Given the description of an element on the screen output the (x, y) to click on. 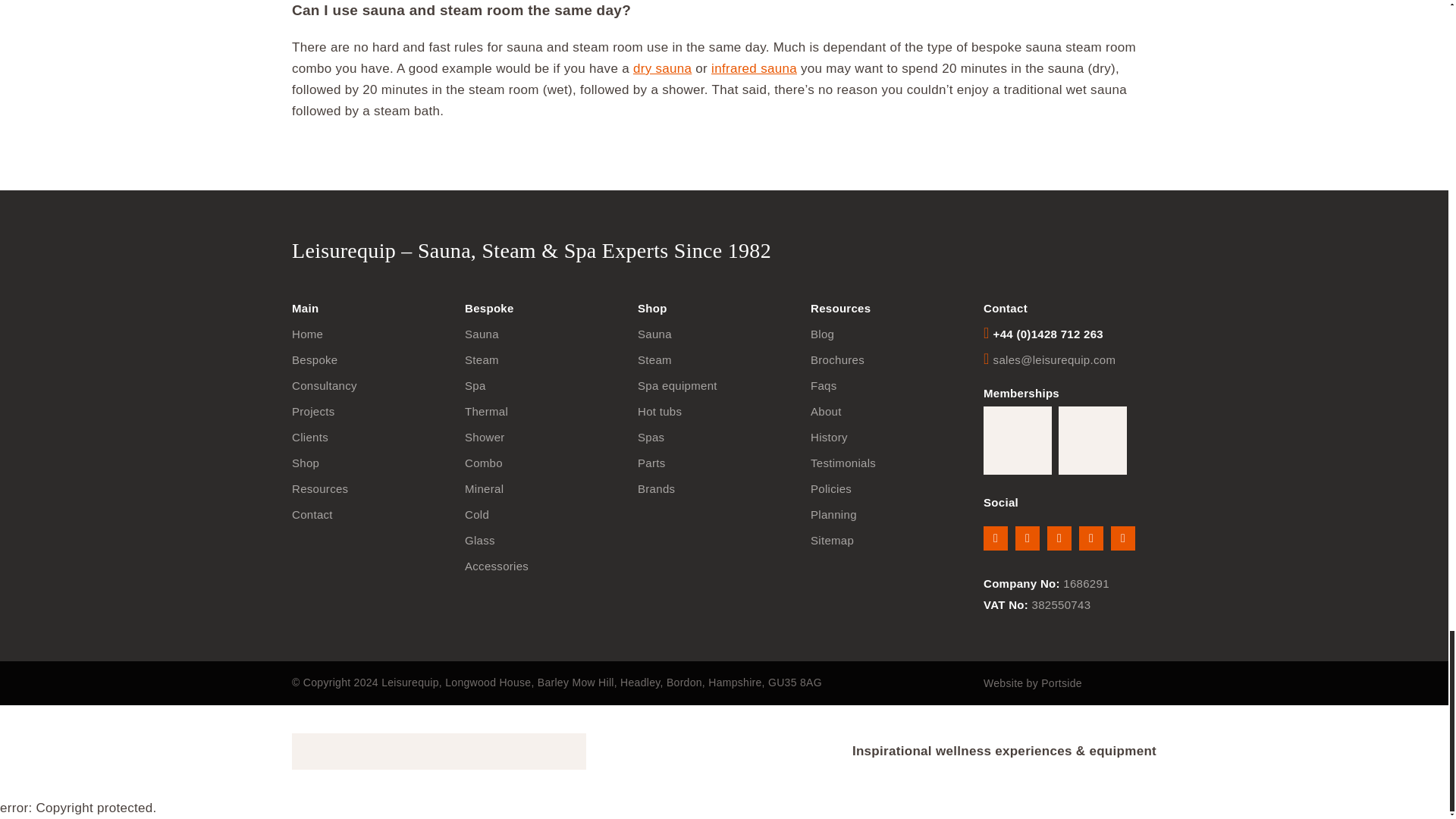
X (1026, 538)
YouTube (1122, 538)
Instagram (1058, 538)
Facebook (995, 538)
Pinterest (1090, 538)
